Given the description of an element on the screen output the (x, y) to click on. 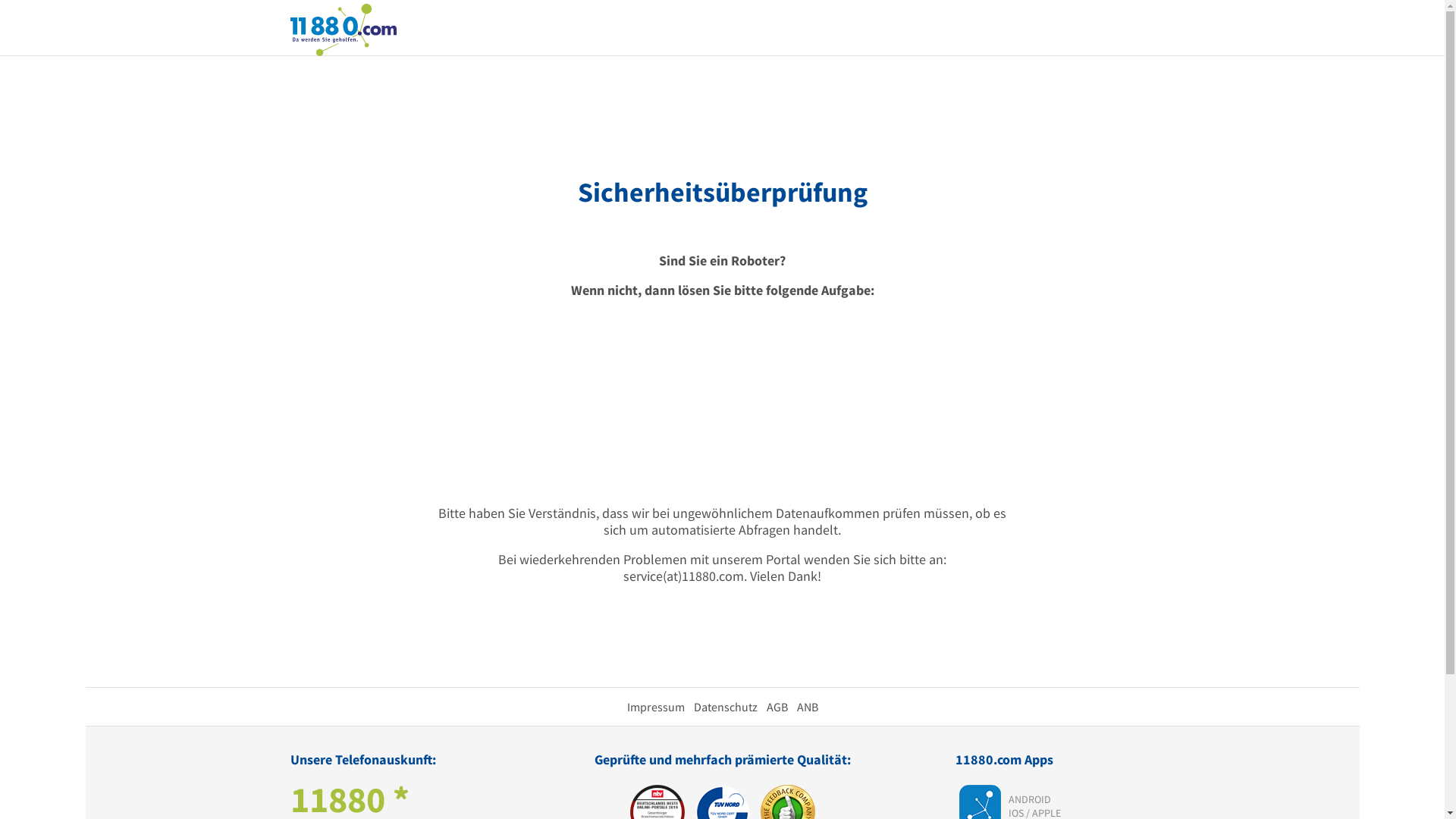
Impressum Element type: text (655, 706)
AGB Element type: text (776, 706)
ANB Element type: text (806, 706)
Datenschutz Element type: text (724, 706)
11880.com Element type: hover (342, 28)
